Given the description of an element on the screen output the (x, y) to click on. 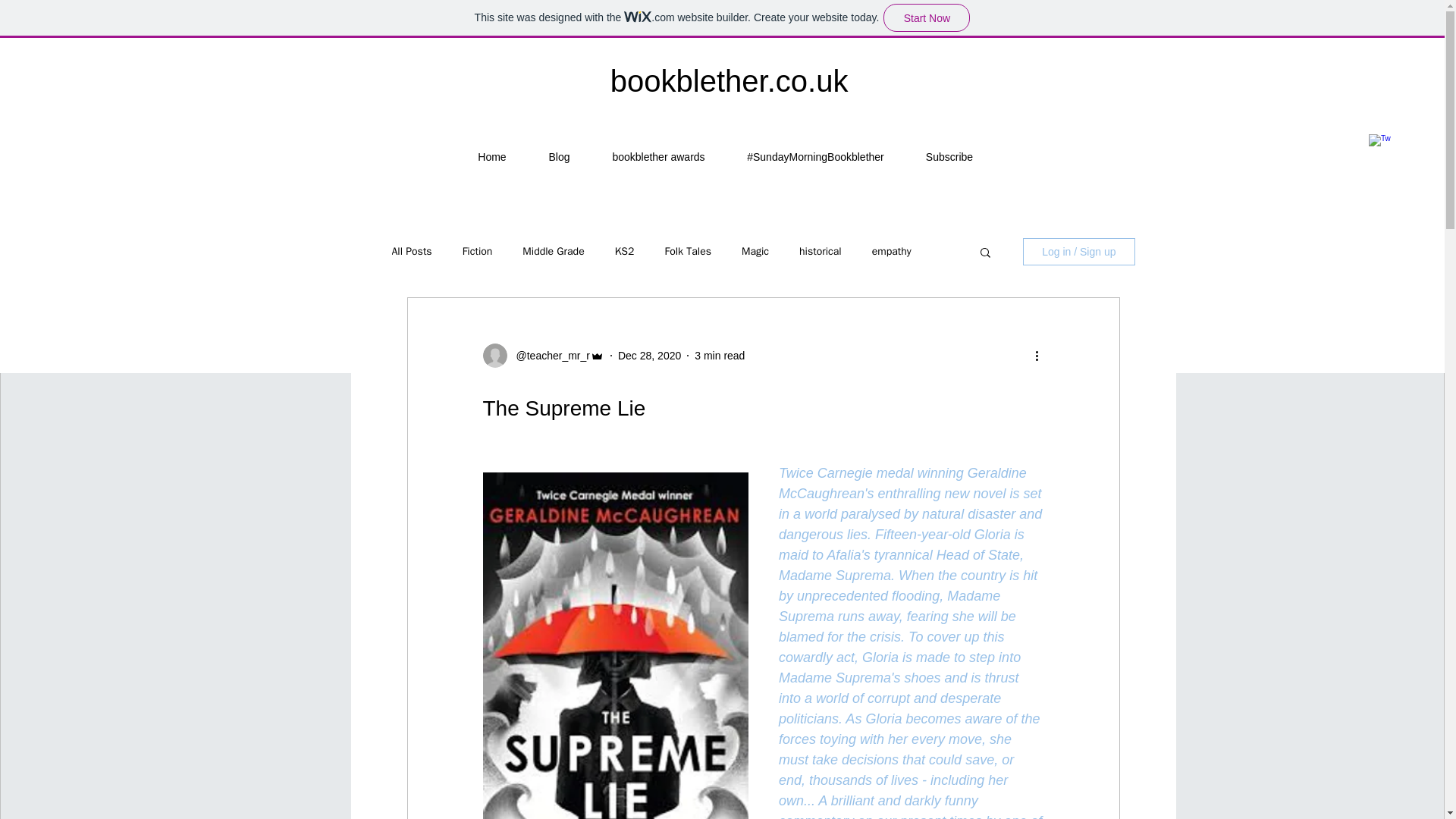
Subscribe (949, 157)
Folk Tales (687, 251)
3 min read (719, 354)
Fiction (478, 251)
Blog (559, 157)
Dec 28, 2020 (649, 354)
Middle Grade (552, 251)
empathy (891, 251)
All Posts (410, 251)
bookblether.co.uk (729, 80)
Home (492, 157)
KS2 (624, 251)
bookblether awards (658, 157)
Magic (754, 251)
historical (820, 251)
